Given the description of an element on the screen output the (x, y) to click on. 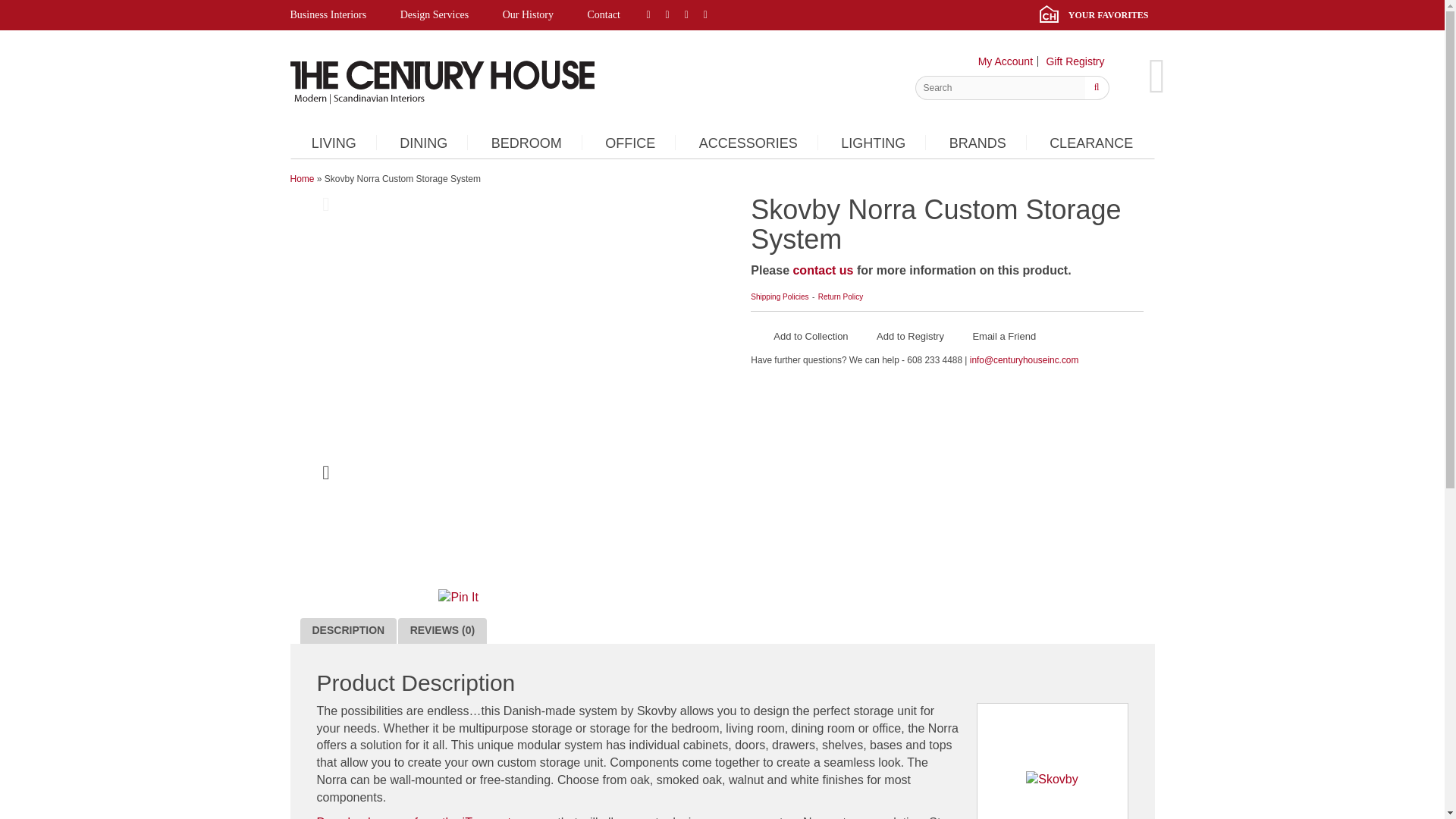
Gift Registry (1074, 61)
My Account (1005, 61)
Contact (603, 15)
Our History (528, 15)
Design Services (434, 15)
YOUR FAVORITES (1096, 15)
Business Interiors (335, 15)
